Given the description of an element on the screen output the (x, y) to click on. 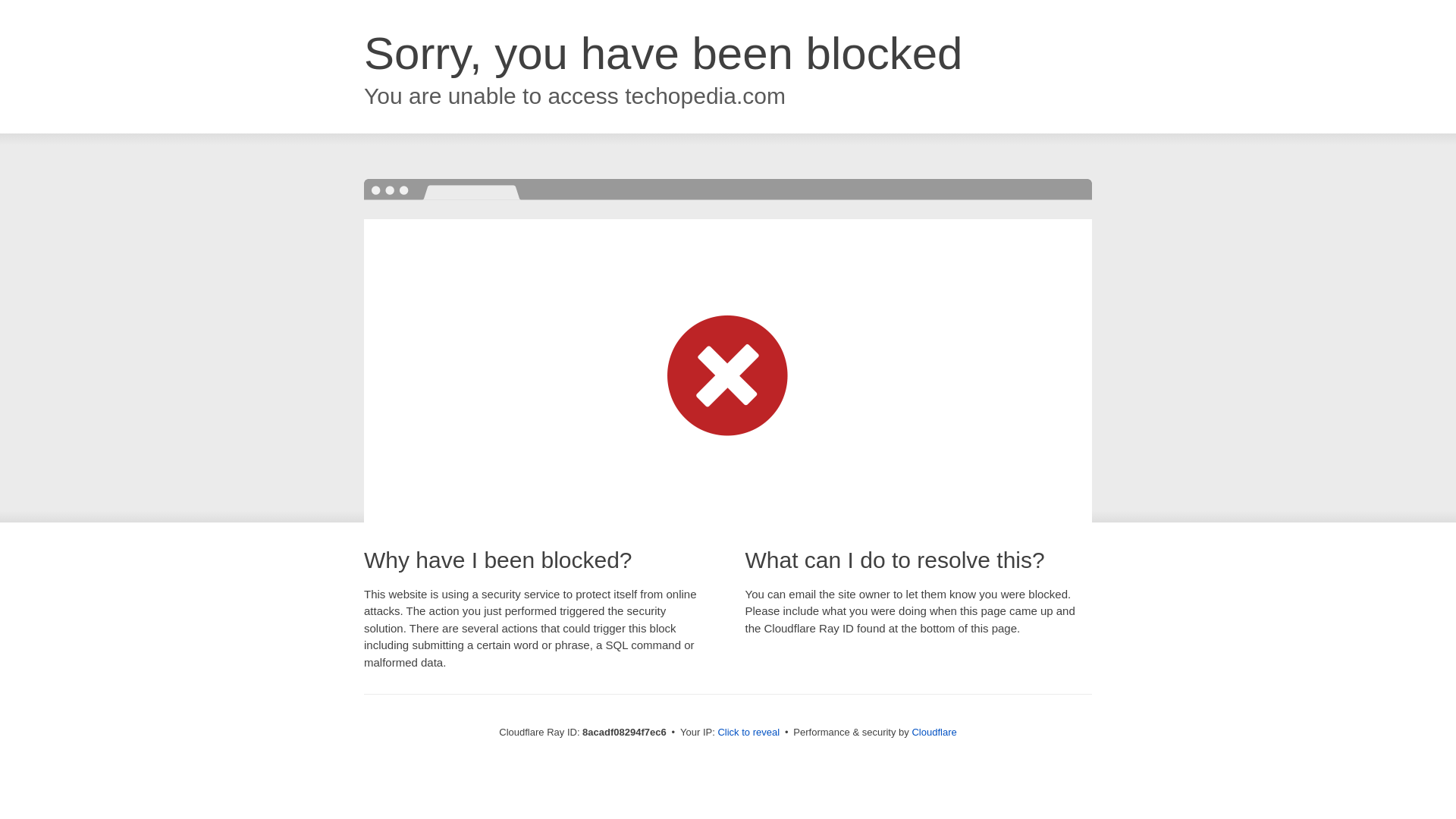
Click to reveal (747, 732)
Cloudflare (933, 731)
